Given the description of an element on the screen output the (x, y) to click on. 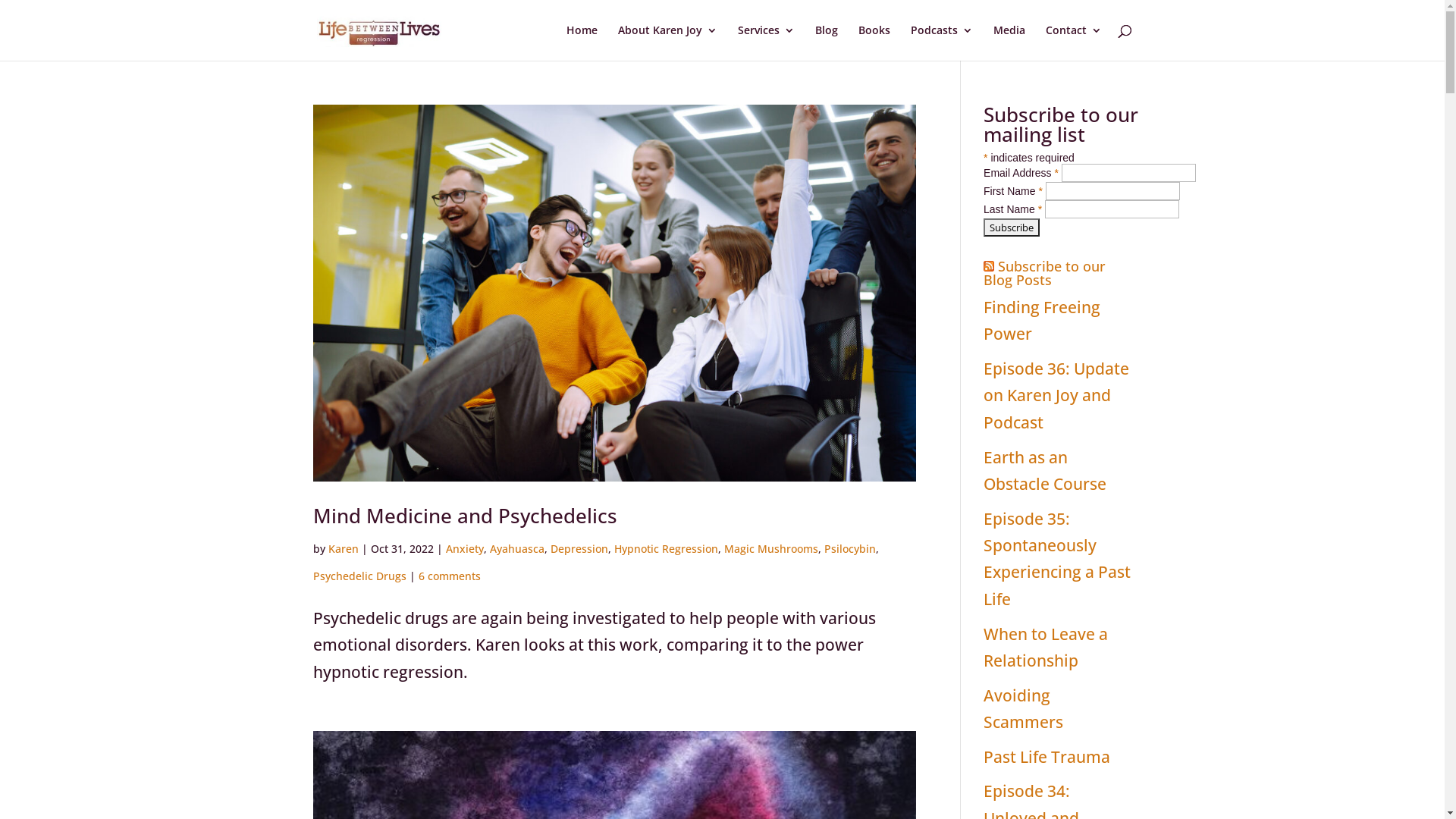
Books Element type: text (874, 42)
Podcasts Element type: text (941, 42)
Hypnotic Regression Element type: text (666, 548)
Magic Mushrooms Element type: text (770, 548)
Psychedelic Drugs Element type: text (358, 575)
6 comments Element type: text (449, 575)
Mind Medicine and Psychedelics Element type: text (464, 515)
Episode 36: Update on Karen Joy and Podcast Element type: text (1056, 395)
When to Leave a Relationship Element type: text (1045, 647)
Subscribe Element type: text (1011, 227)
Subscribe to our Blog Posts Element type: text (1044, 272)
About Karen Joy Element type: text (666, 42)
Depression Element type: text (579, 548)
Episode 35: Spontaneously Experiencing a Past Life Element type: text (1056, 558)
Media Element type: text (1009, 42)
Karen Element type: text (342, 548)
Anxiety Element type: text (464, 548)
Past Life Trauma Element type: text (1046, 756)
Avoiding Scammers Element type: text (1023, 708)
Earth as an Obstacle Course Element type: text (1044, 470)
Blog Element type: text (825, 42)
Home Element type: text (580, 42)
Ayahuasca Element type: text (516, 548)
Finding Freeing Power Element type: text (1041, 320)
Services Element type: text (765, 42)
Contact Element type: text (1072, 42)
Psilocybin Element type: text (849, 548)
